Given the description of an element on the screen output the (x, y) to click on. 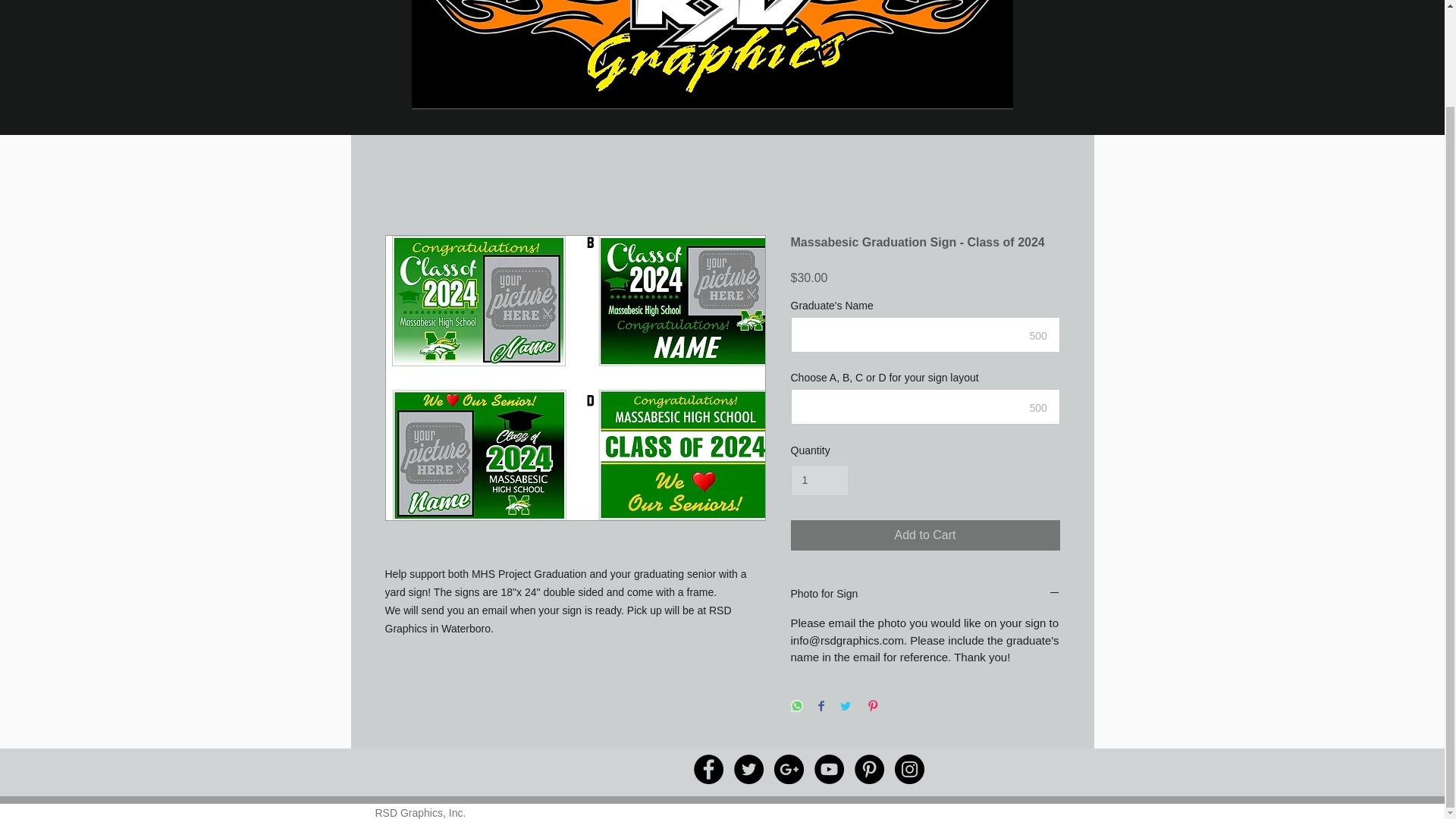
Add to Cart (924, 535)
1 (818, 480)
Photo for Sign (924, 594)
